Given the description of an element on the screen output the (x, y) to click on. 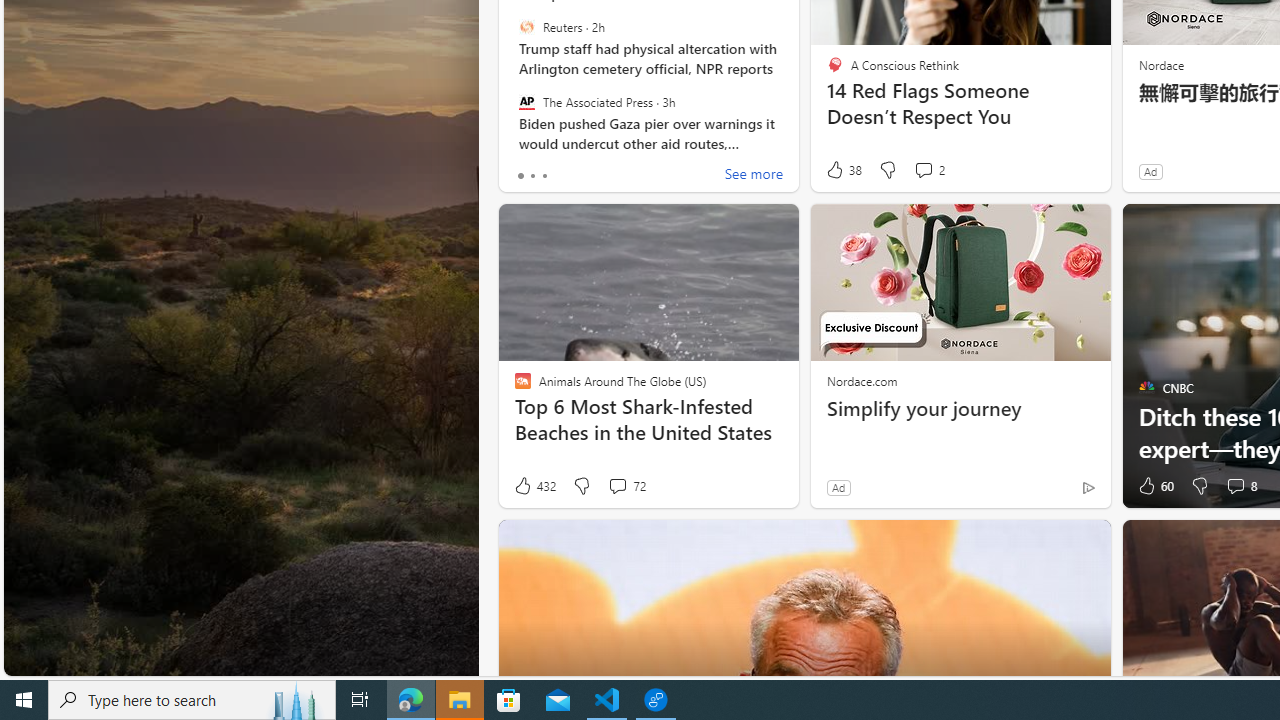
View comments 72 Comment (626, 485)
tab-2 (543, 175)
tab-0 (520, 175)
tab-1 (532, 175)
Reuters (526, 27)
View comments 2 Comment (923, 169)
432 Like (534, 485)
View comments 2 Comment (928, 170)
View comments 8 Comment (1240, 485)
